Given the description of an element on the screen output the (x, y) to click on. 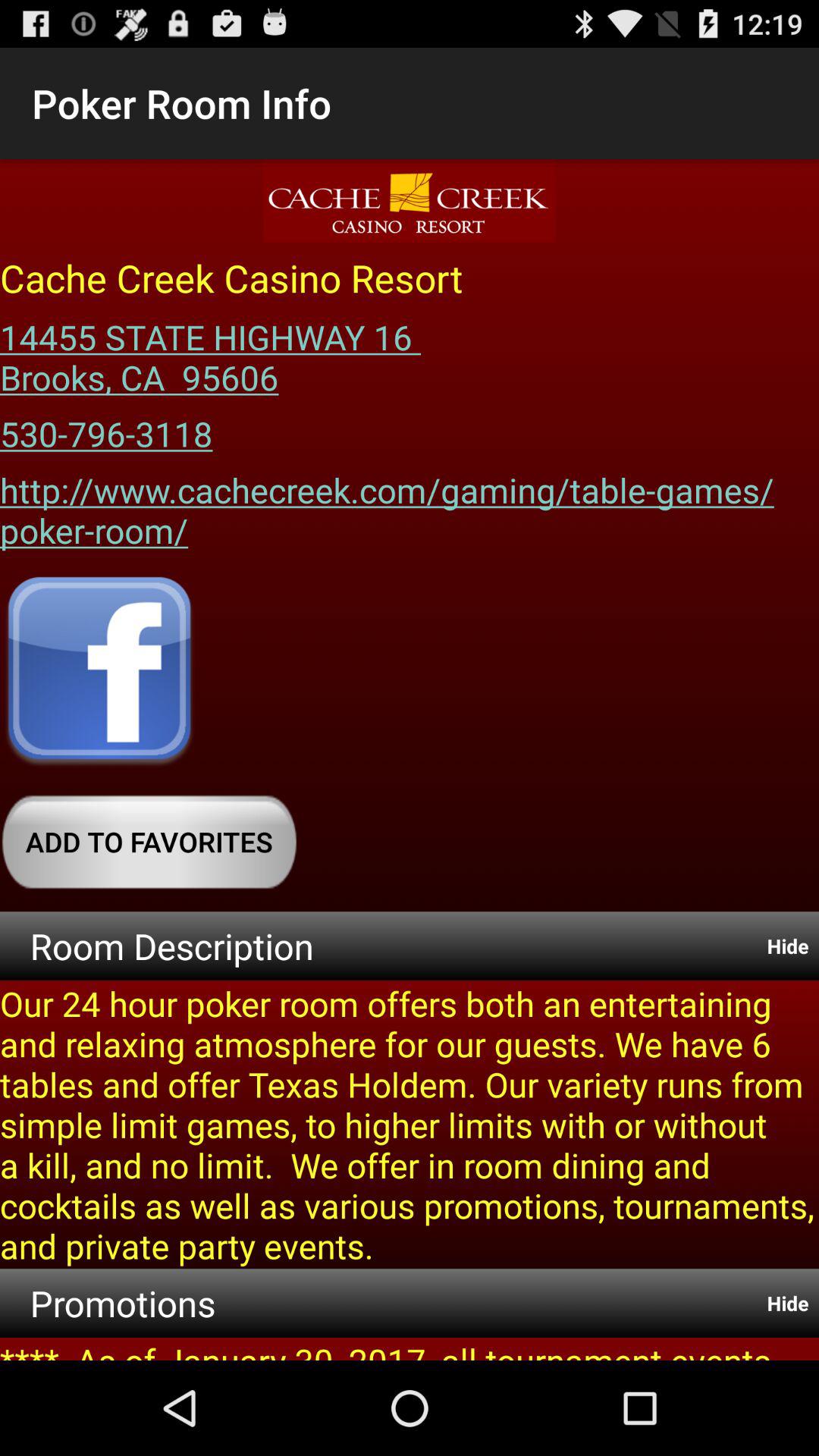
select http www cachecreek item (409, 504)
